Given the description of an element on the screen output the (x, y) to click on. 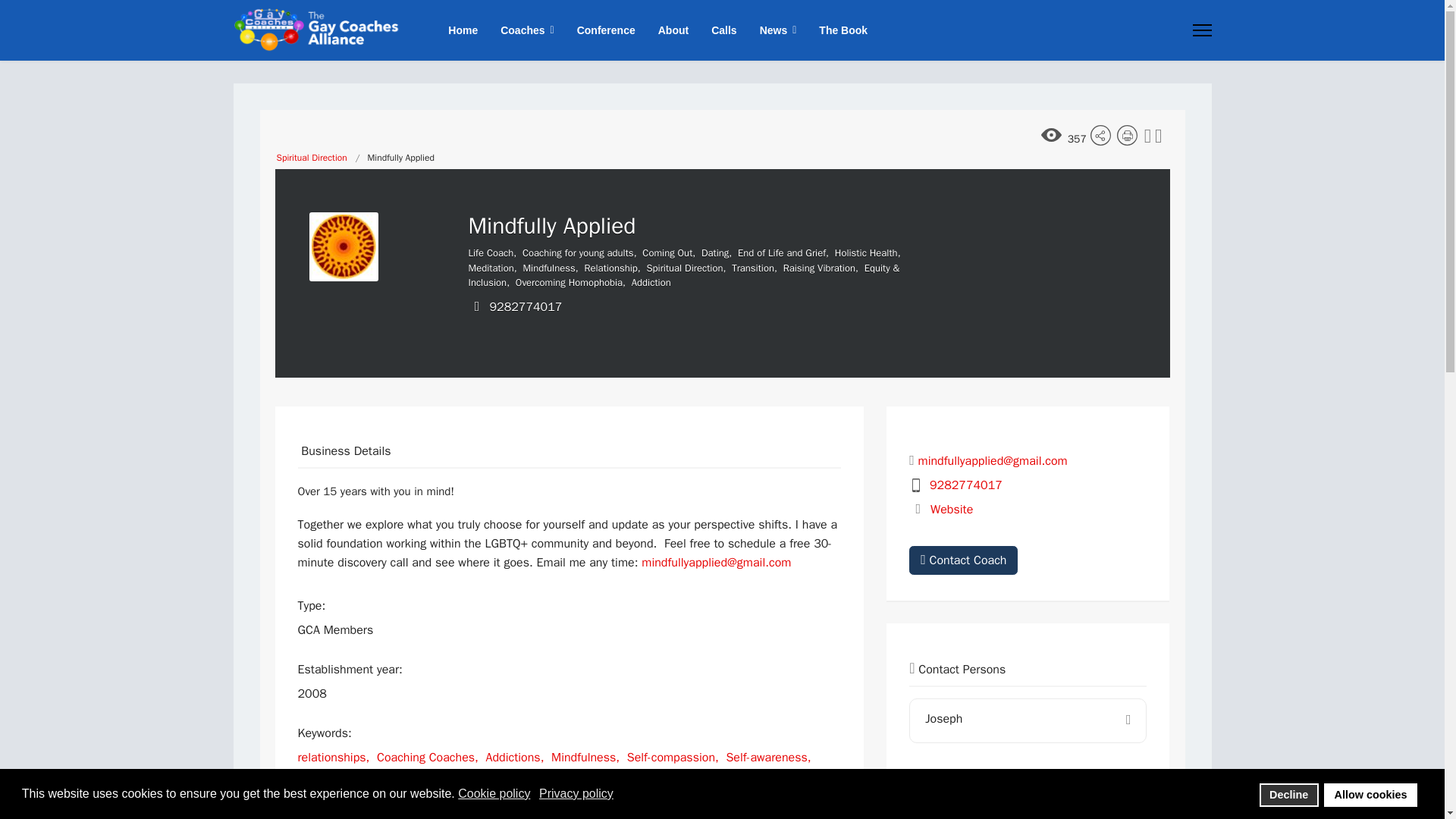
Coming Out (667, 252)
Conference (606, 30)
VCard (1157, 138)
Privacy policy (576, 793)
Life Coach (490, 252)
Allow cookies (1369, 794)
Home (462, 30)
Spiritual Direction (311, 157)
The Book (837, 30)
End of Life and Grief (781, 252)
Mindfulness (548, 267)
Transition (753, 267)
Menu (1201, 30)
Coaches (526, 30)
Calls (724, 30)
